Given the description of an element on the screen output the (x, y) to click on. 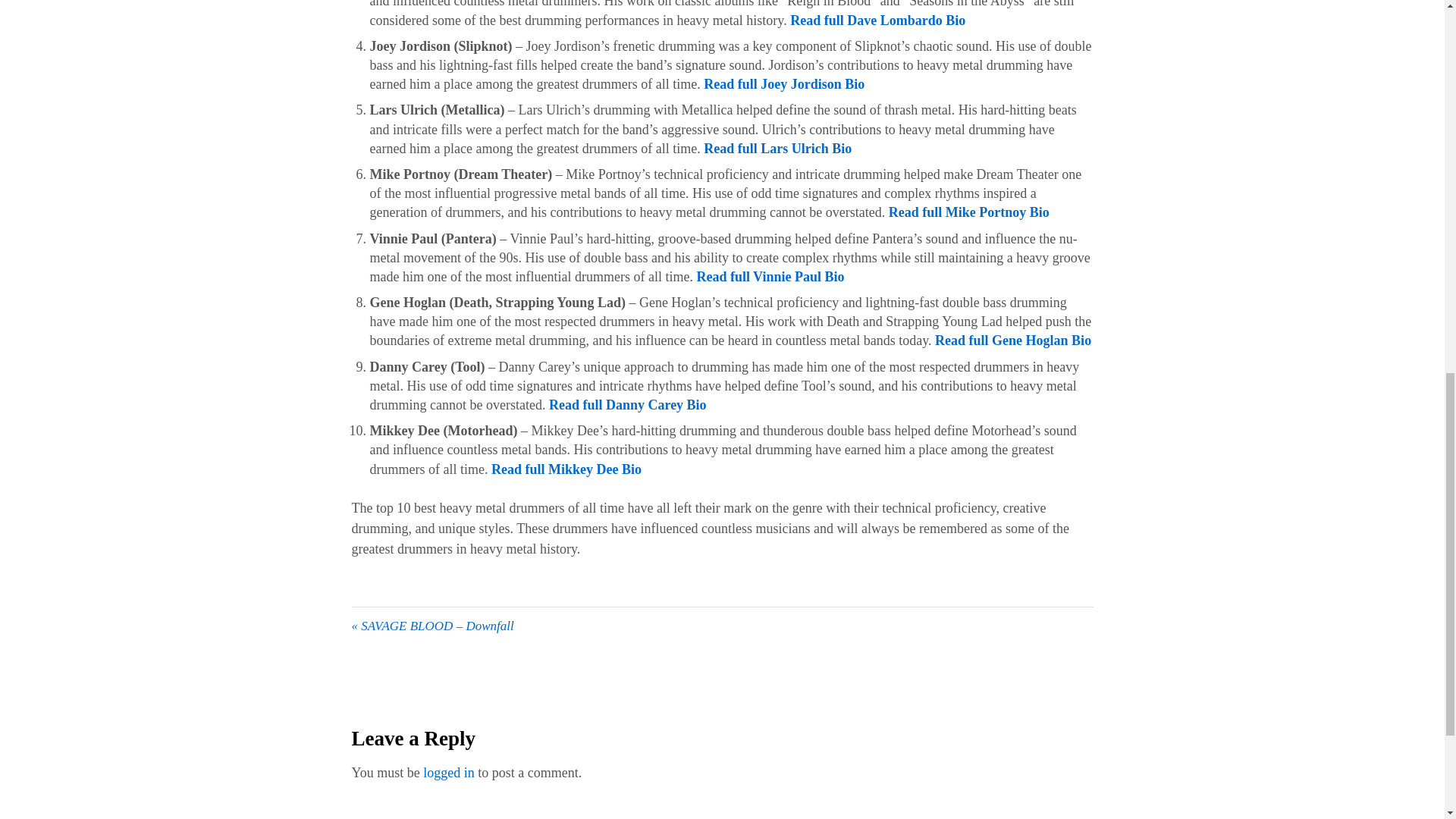
Read full Gene Hoglan Bio (1012, 340)
Read full Danny Carey Bio (627, 404)
Read full Lars Ulrich Bio (777, 148)
Read full Mikkey Dee Bio (567, 468)
logged in (448, 772)
Read full Joey Jordison Bio (783, 83)
Read full Dave Lombardo Bio (877, 20)
Read full Vinnie Paul Bio (769, 276)
Read full Mike Portnoy Bio (968, 212)
